Given the description of an element on the screen output the (x, y) to click on. 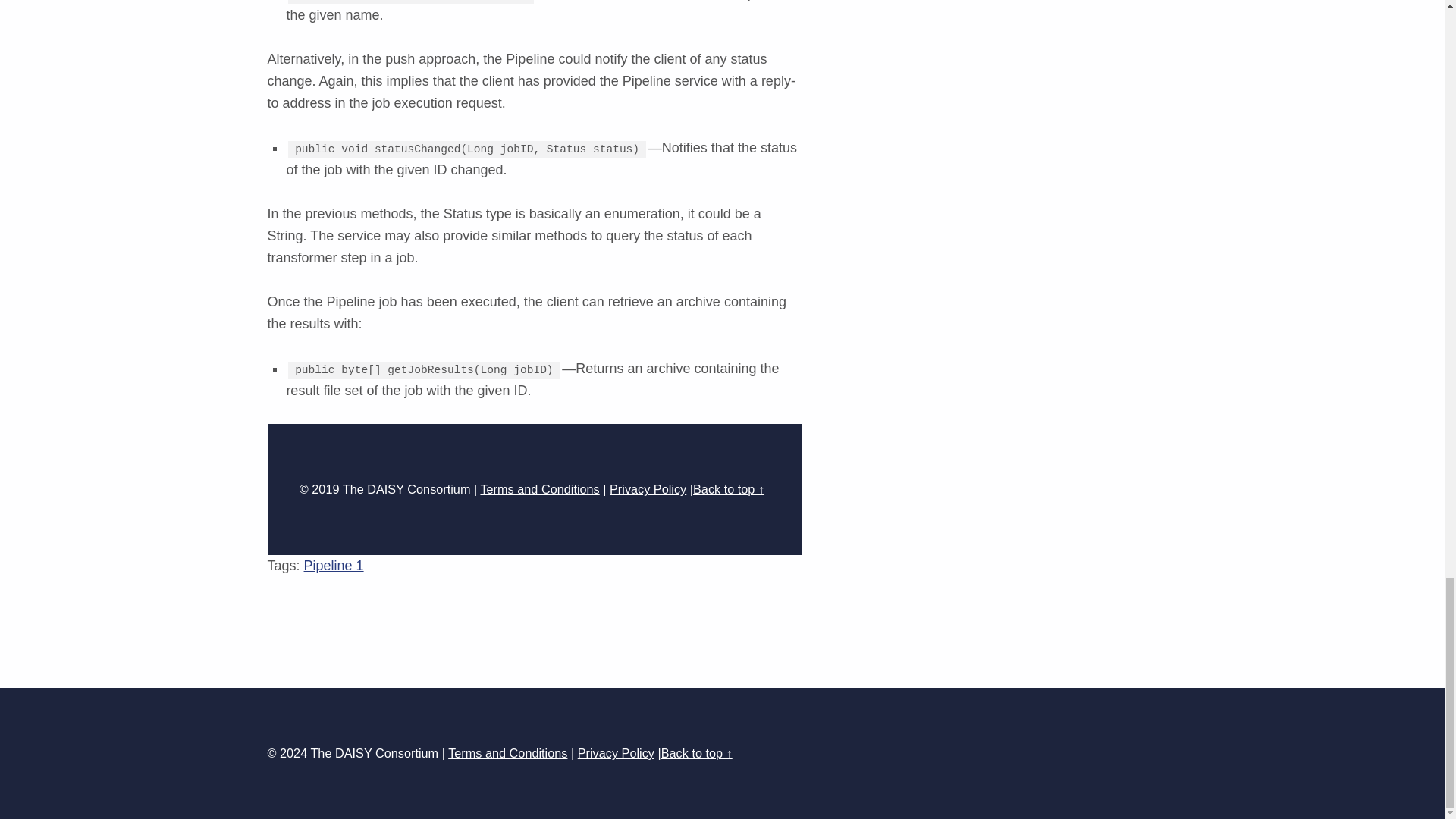
Terms and Conditions (507, 753)
Privacy Policy (647, 489)
Pipeline 1 (334, 565)
Privacy Policy (615, 753)
Terms and Conditions (539, 489)
